Given the description of an element on the screen output the (x, y) to click on. 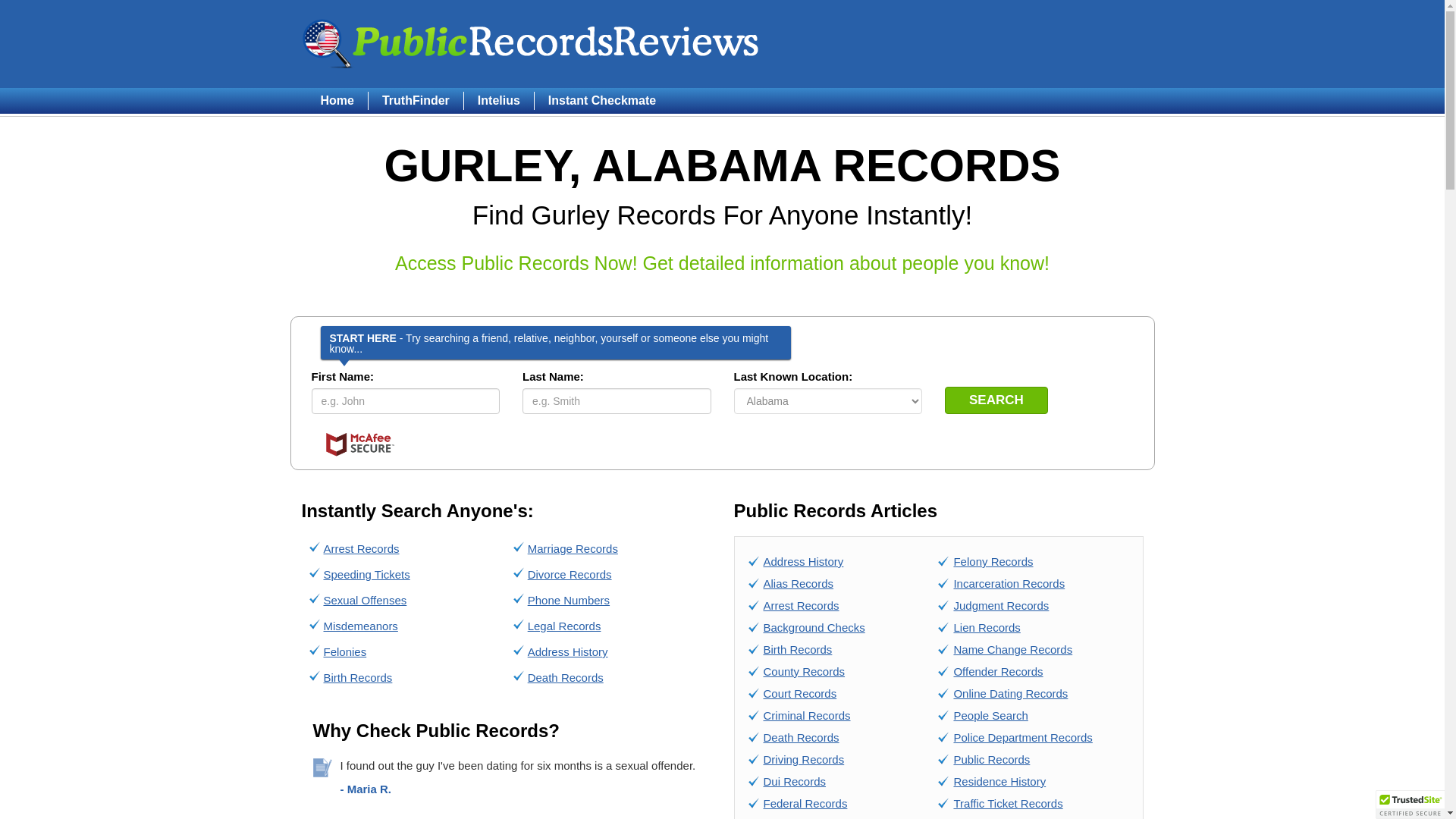
Birth Records (357, 676)
Public Record Reviews (530, 43)
Alias Records (797, 583)
Birth Records (796, 649)
Address History (802, 561)
Legal Records (564, 625)
Arrest Records (360, 548)
Marriage Records (572, 548)
Judgment Records (1000, 604)
Driving Records (803, 758)
McAfee Secured (359, 444)
Address History (567, 651)
Misdemeanors (360, 625)
Dui Records (793, 780)
Police Department Records (1022, 737)
